Given the description of an element on the screen output the (x, y) to click on. 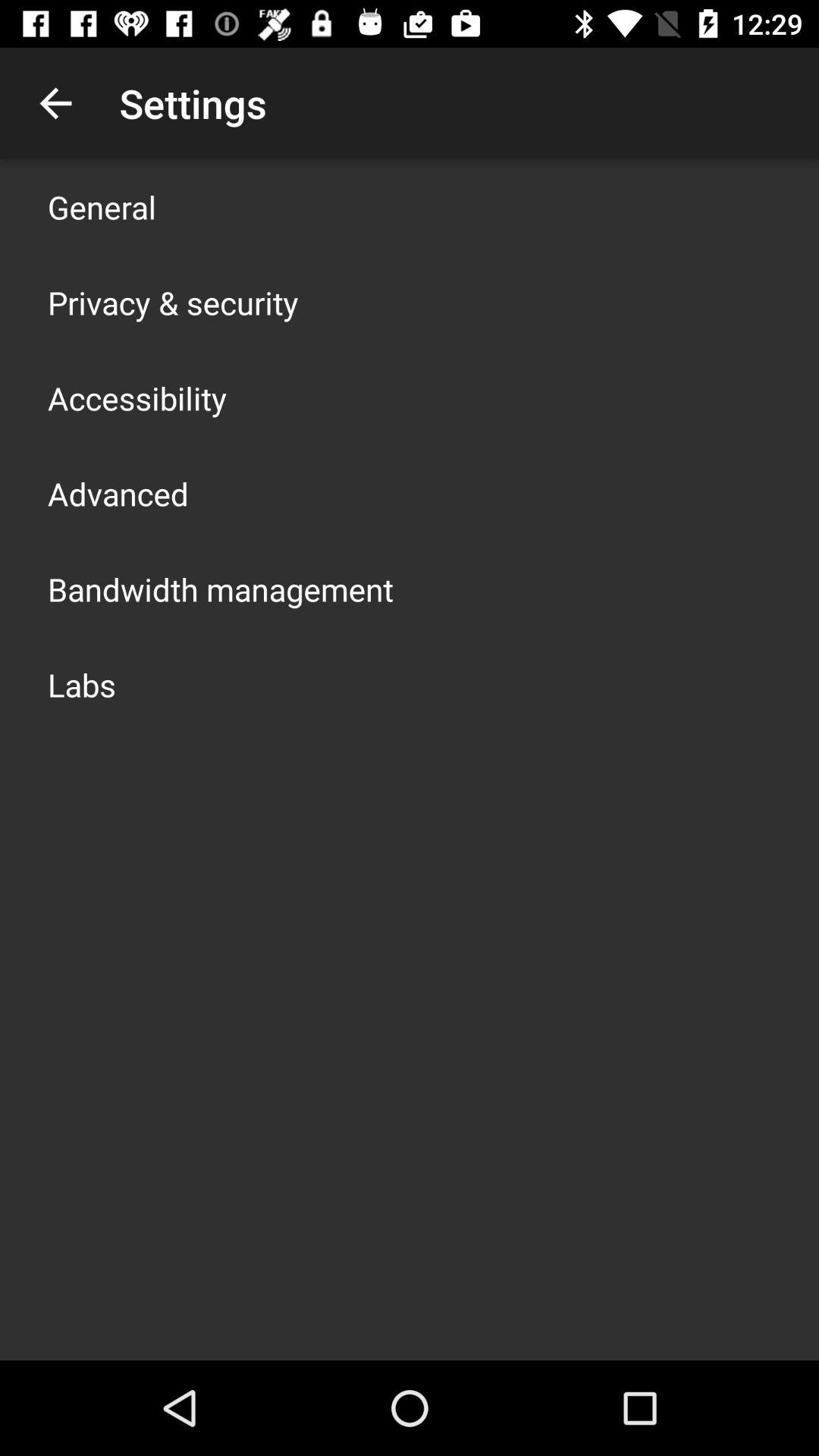
press the app below bandwidth management (81, 684)
